Given the description of an element on the screen output the (x, y) to click on. 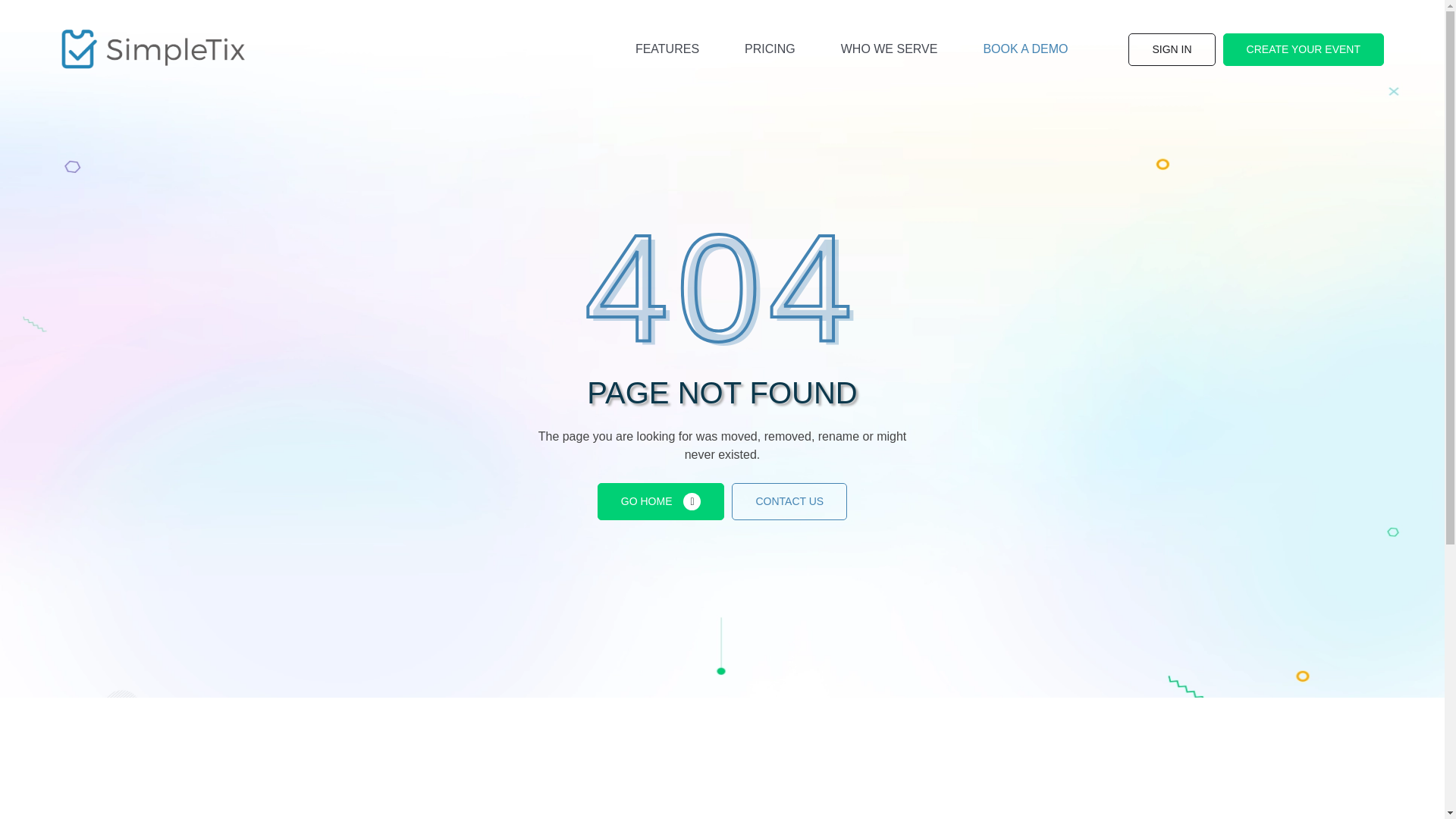
PRICING (770, 49)
SIGN IN (1171, 49)
CONTACT US (789, 501)
WHO WE SERVE (889, 49)
GO HOME (660, 501)
CREATE YOUR EVENT (1303, 49)
BOOK A DEMO (1024, 49)
FEATURES (667, 49)
